Given the description of an element on the screen output the (x, y) to click on. 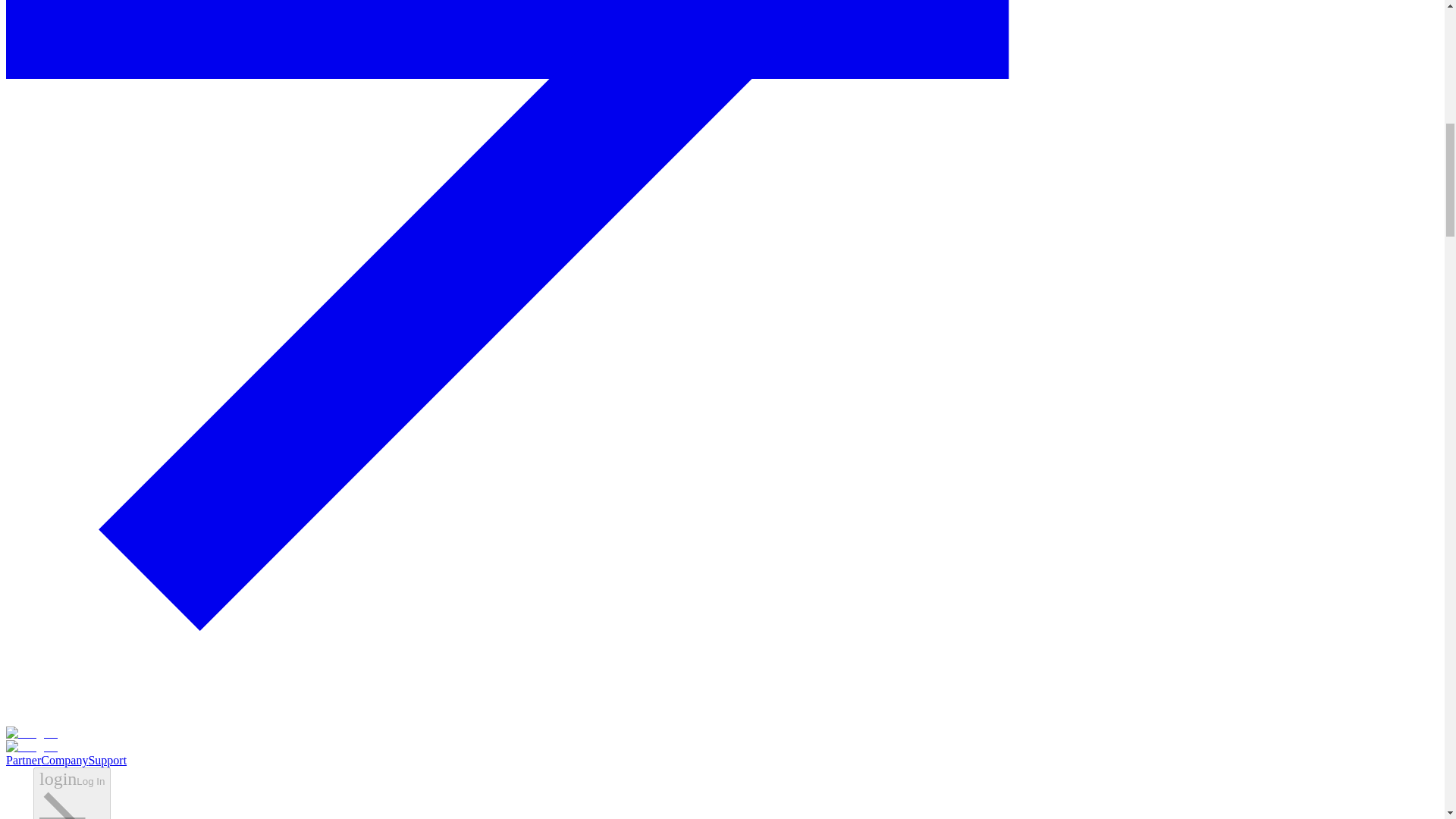
Partner (22, 759)
Support (106, 759)
Company (63, 759)
loginLog In (71, 793)
